Given the description of an element on the screen output the (x, y) to click on. 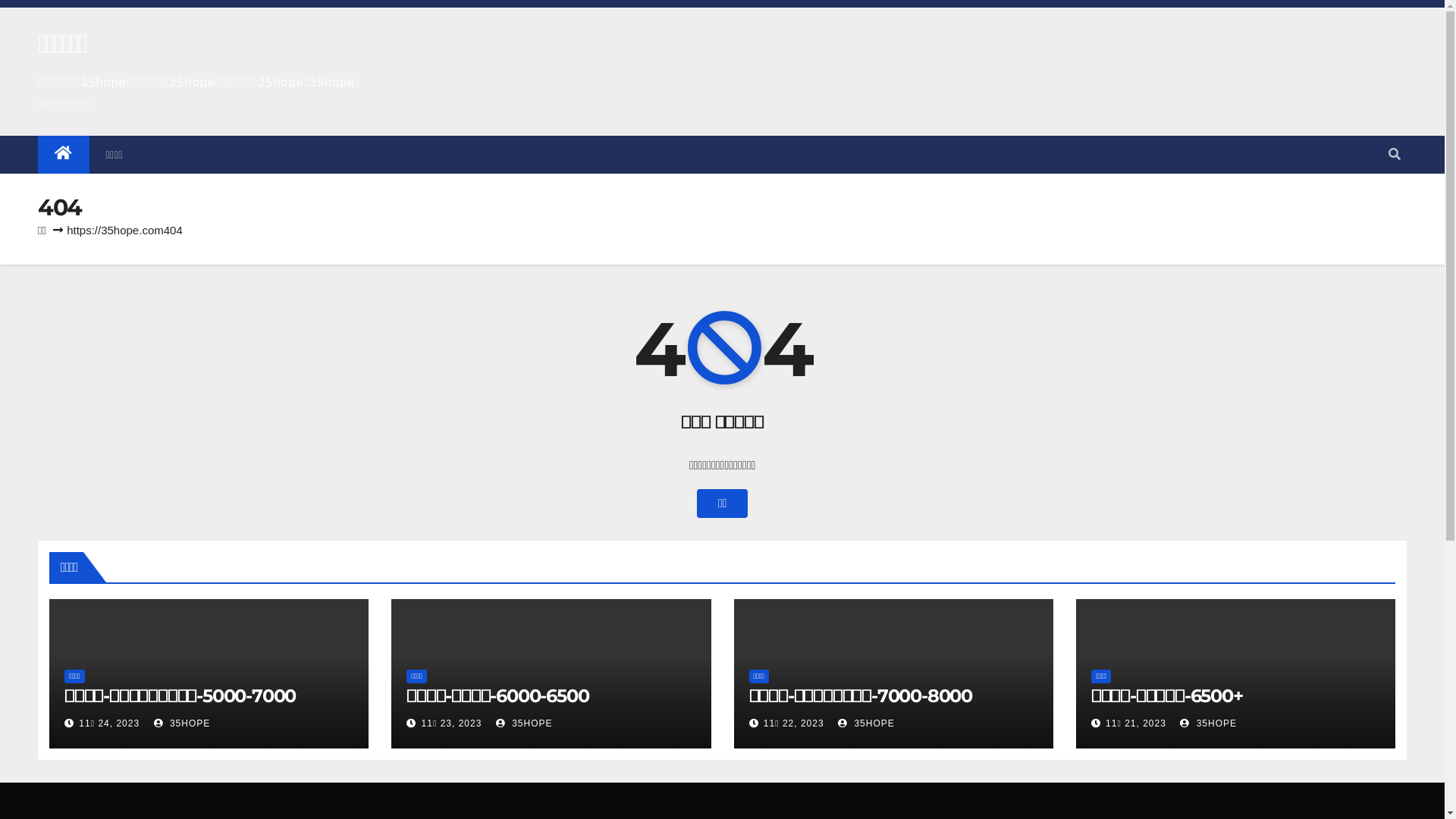
35HOPE Element type: text (523, 723)
35HOPE Element type: text (181, 723)
35HOPE Element type: text (1207, 723)
35HOPE Element type: text (865, 723)
